Given the description of an element on the screen output the (x, y) to click on. 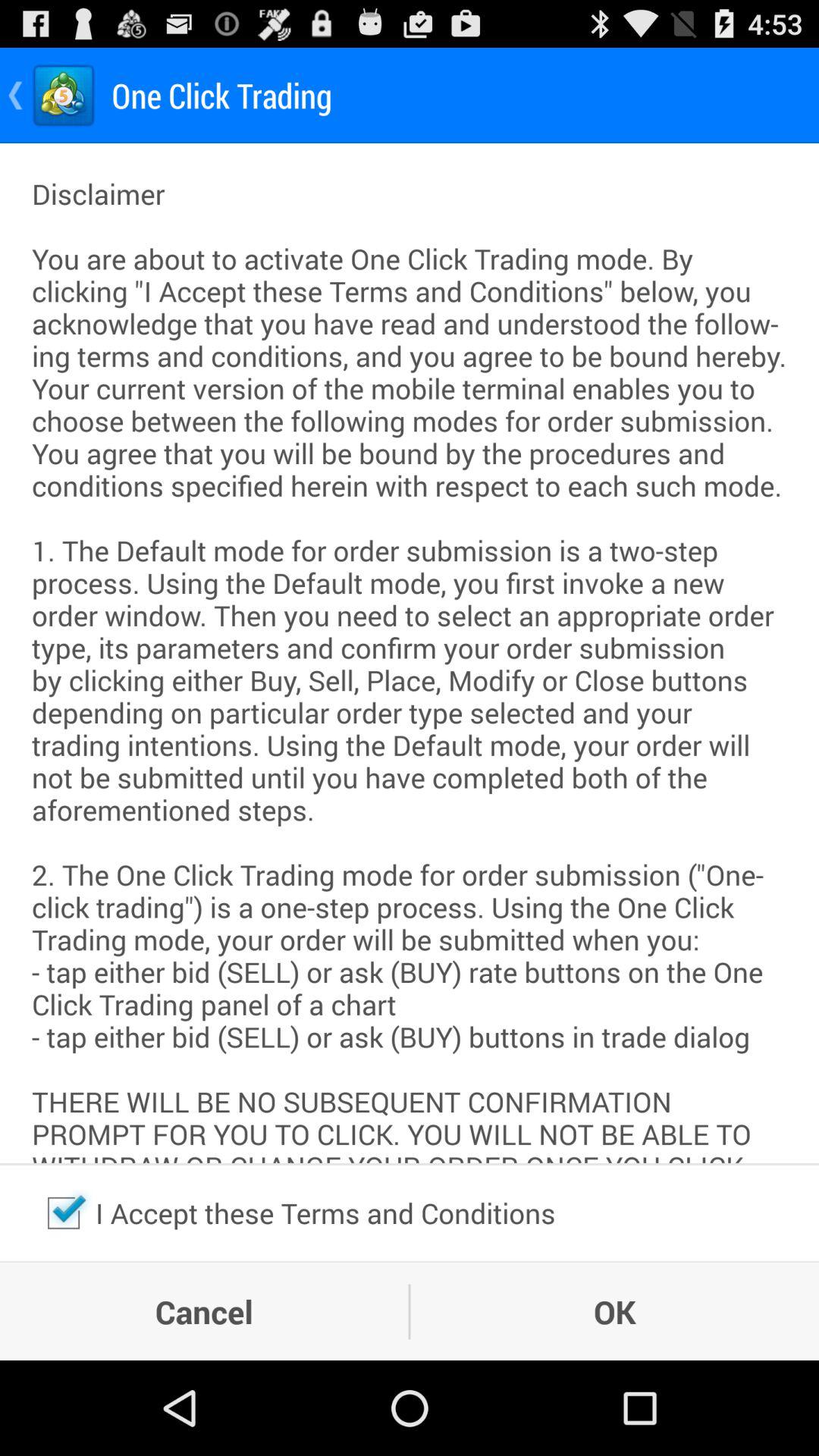
jump to the ok item (614, 1311)
